Given the description of an element on the screen output the (x, y) to click on. 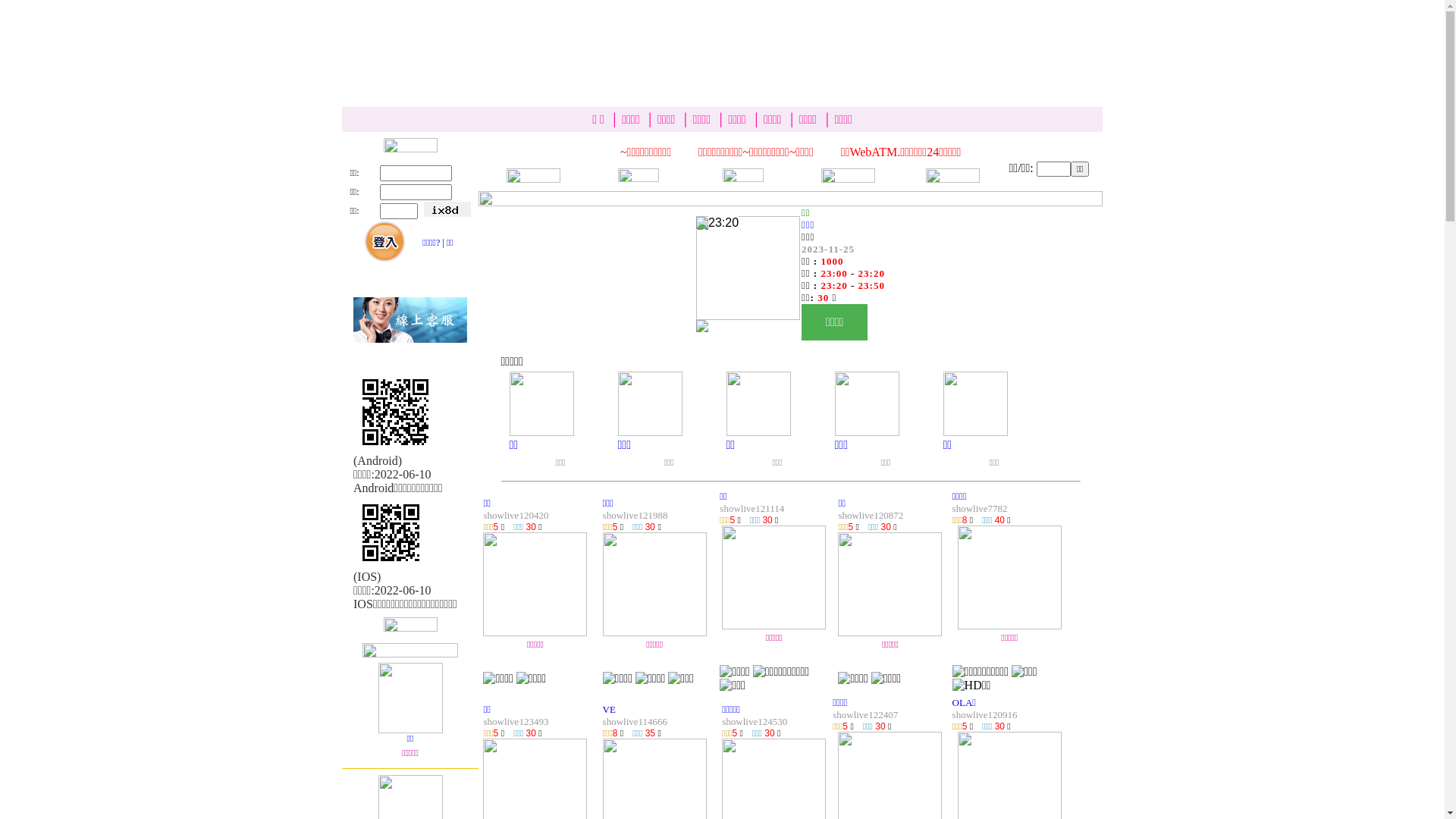
VE Element type: text (608, 709)
23:20 Element type: text (748, 315)
